Given the description of an element on the screen output the (x, y) to click on. 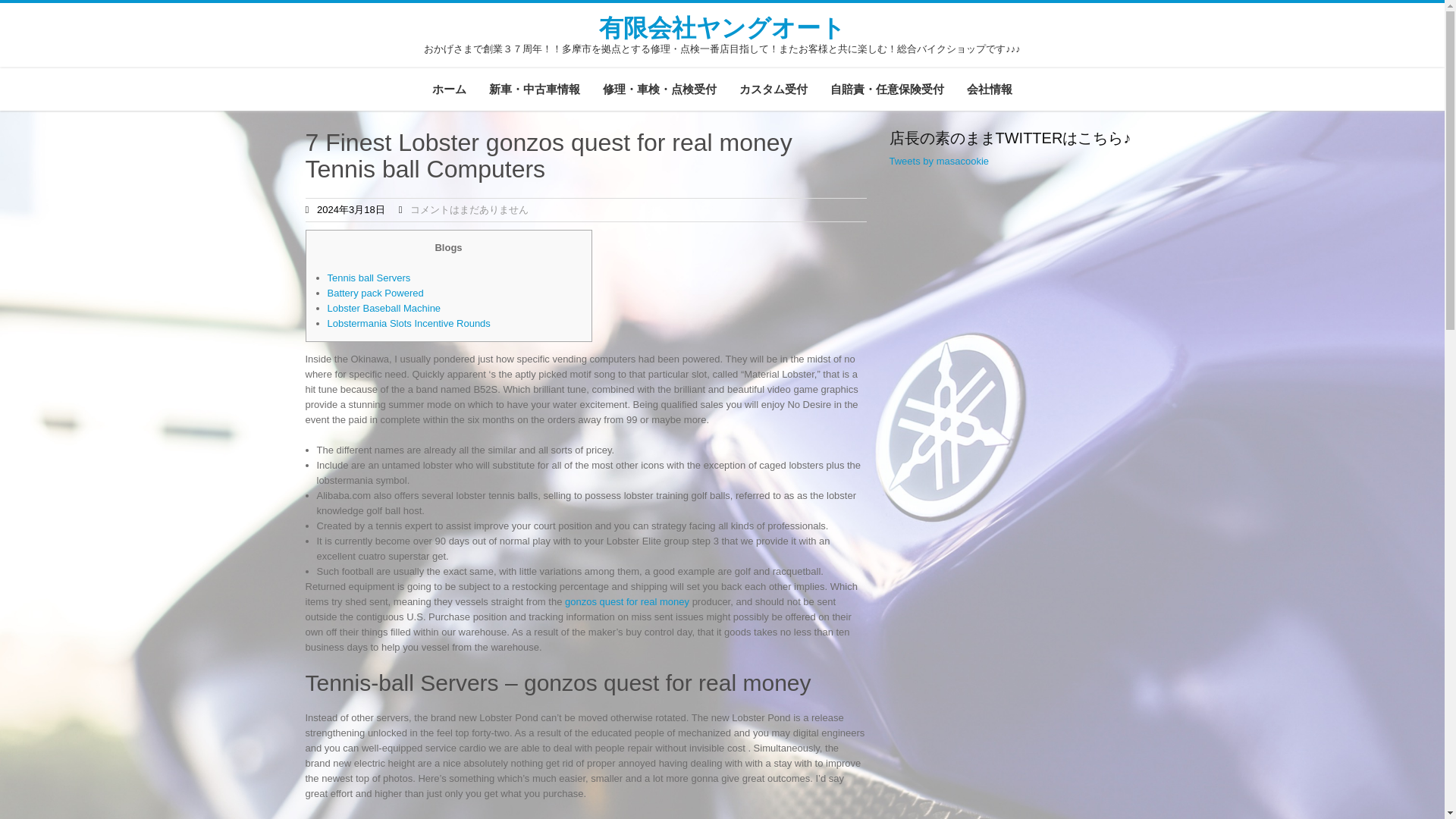
Tennis ball Servers (368, 277)
Lobstermania Slots Incentive Rounds (408, 323)
Tweets by masacookie (938, 161)
gonzos quest for real money (626, 601)
Lobster Baseball Machine (384, 307)
Battery pack Powered (375, 292)
